Given the description of an element on the screen output the (x, y) to click on. 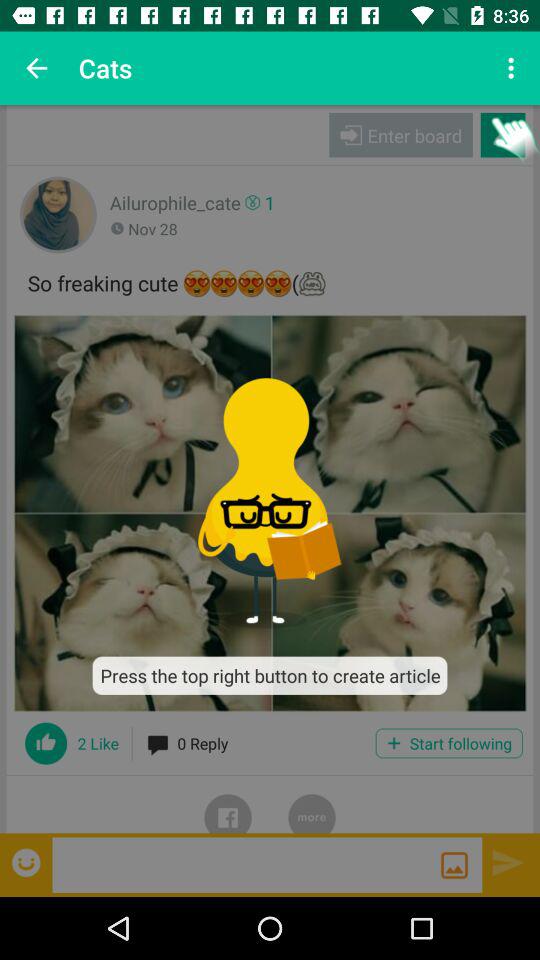
go to next page (508, 862)
